Given the description of an element on the screen output the (x, y) to click on. 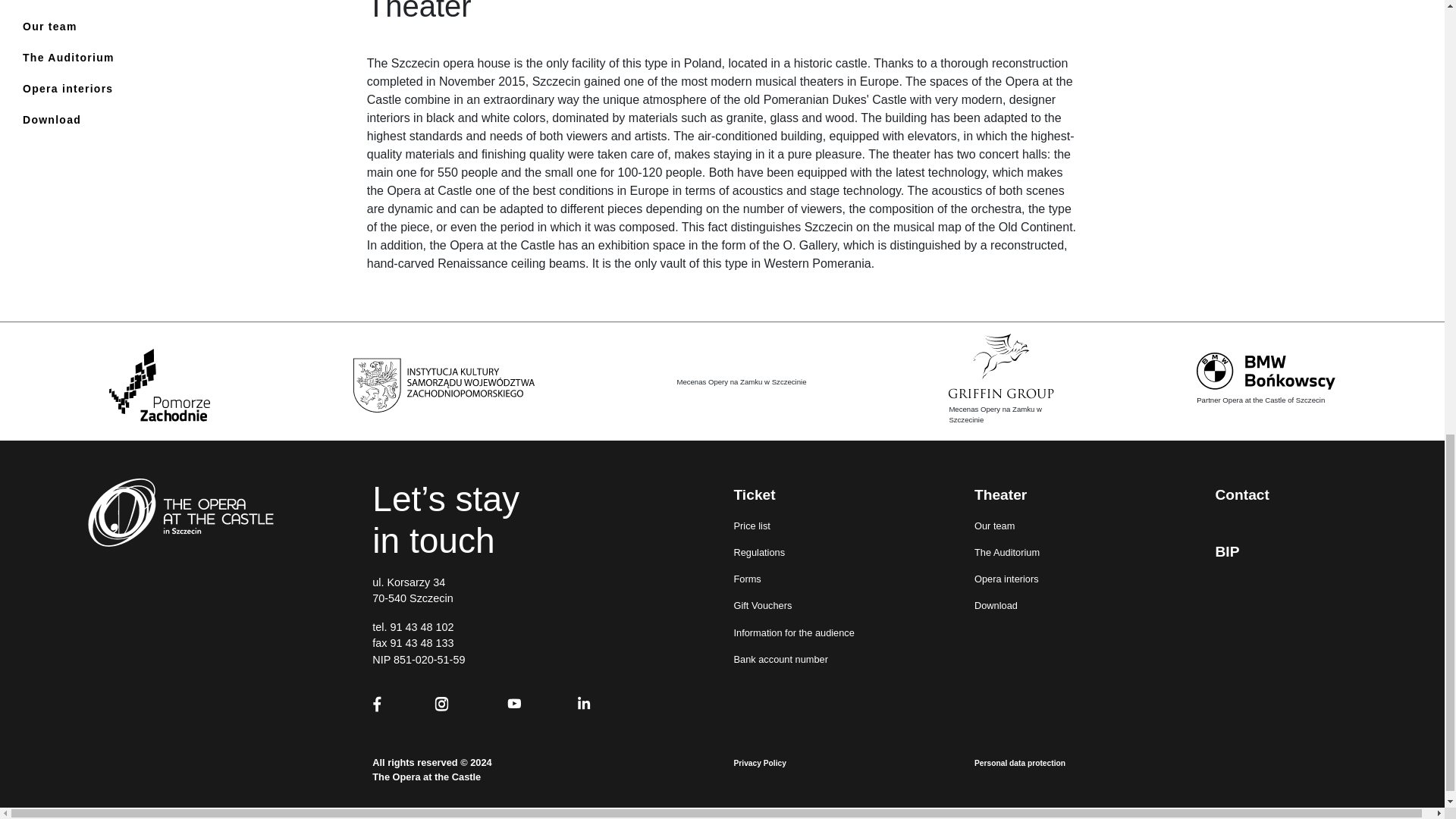
Contact (69, 3)
The Auditorium (69, 57)
Our team (69, 26)
Opera interiors (69, 88)
Download (69, 119)
